Given the description of an element on the screen output the (x, y) to click on. 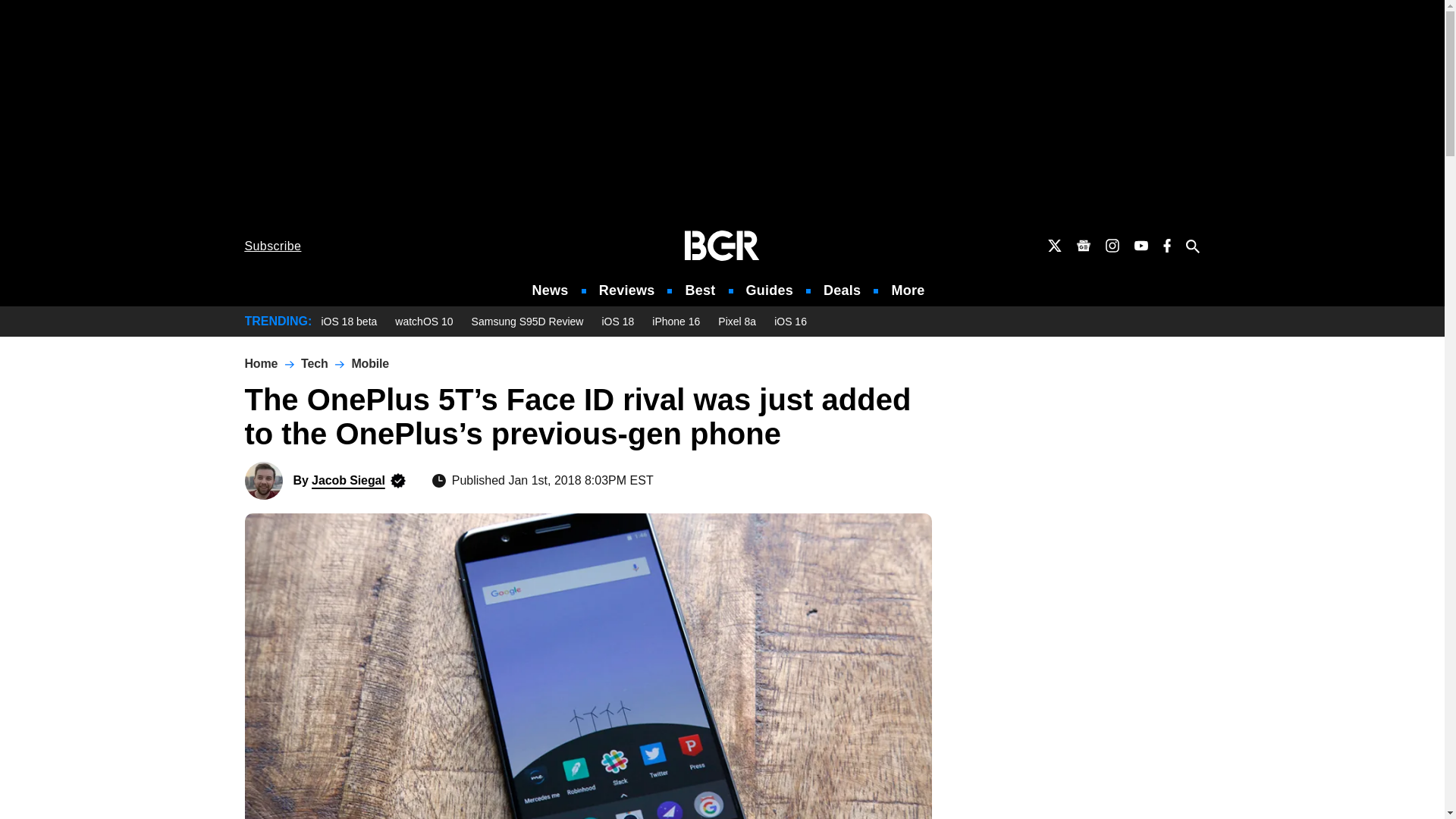
More (907, 290)
Posts by Jacob Siegal (348, 480)
Guides (769, 290)
Reviews (626, 290)
Deals (842, 290)
News (550, 290)
Subscribe (272, 245)
Best (699, 290)
